Given the description of an element on the screen output the (x, y) to click on. 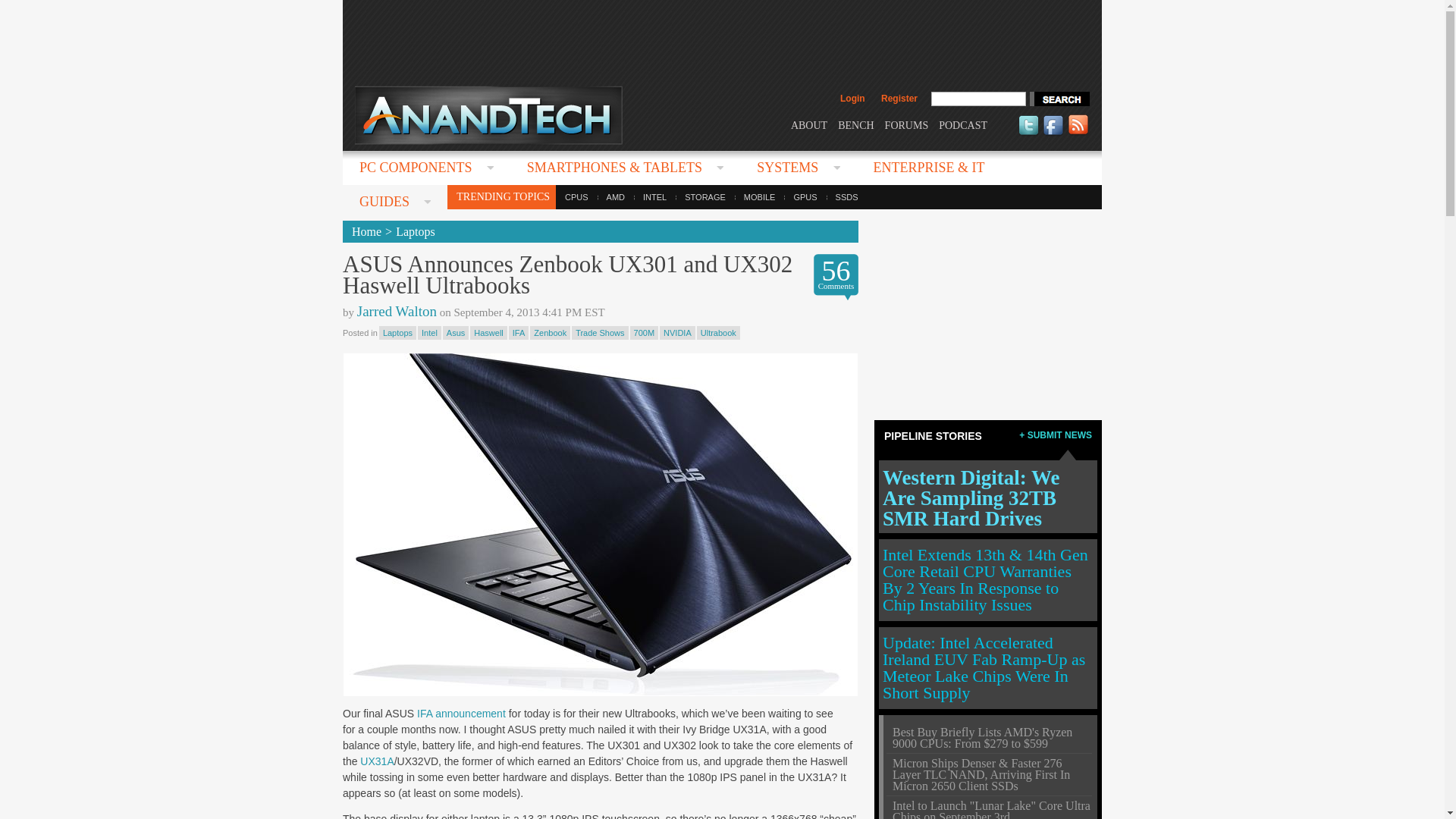
Register (898, 98)
search (1059, 98)
PODCAST (963, 125)
FORUMS (906, 125)
ABOUT (808, 125)
search (1059, 98)
Login (852, 98)
BENCH (855, 125)
search (1059, 98)
